Given the description of an element on the screen output the (x, y) to click on. 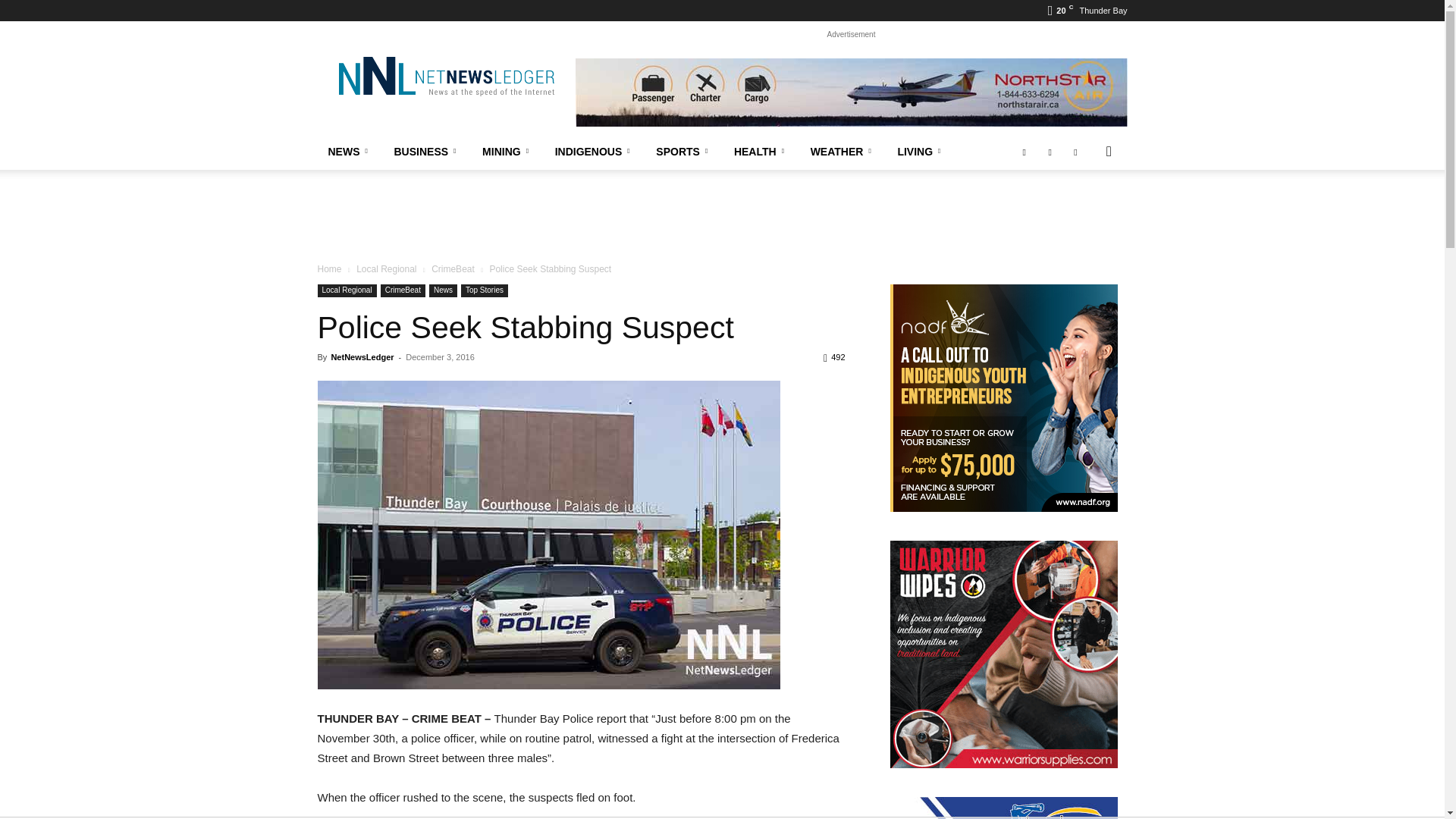
NetNewsLedger (445, 76)
View all posts in CrimeBeat (452, 268)
North Star Air (850, 92)
View all posts in Local Regional (386, 268)
